Given the description of an element on the screen output the (x, y) to click on. 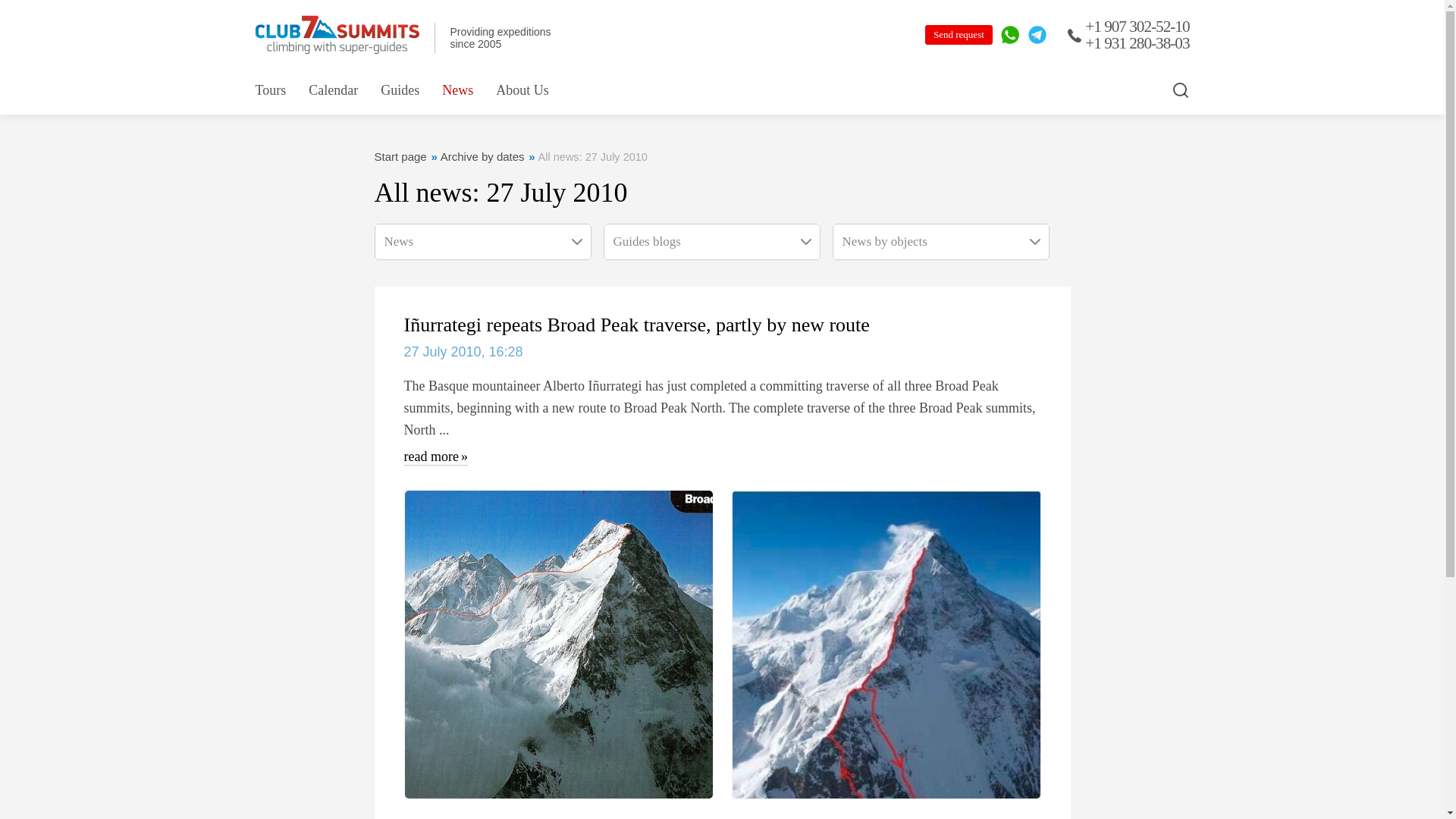
Start page (400, 155)
Send request (958, 35)
Guides (399, 89)
Tours (269, 89)
Calendar (333, 89)
read more (435, 453)
About Us (522, 89)
News (457, 89)
Archive by dates (482, 155)
